Given the description of an element on the screen output the (x, y) to click on. 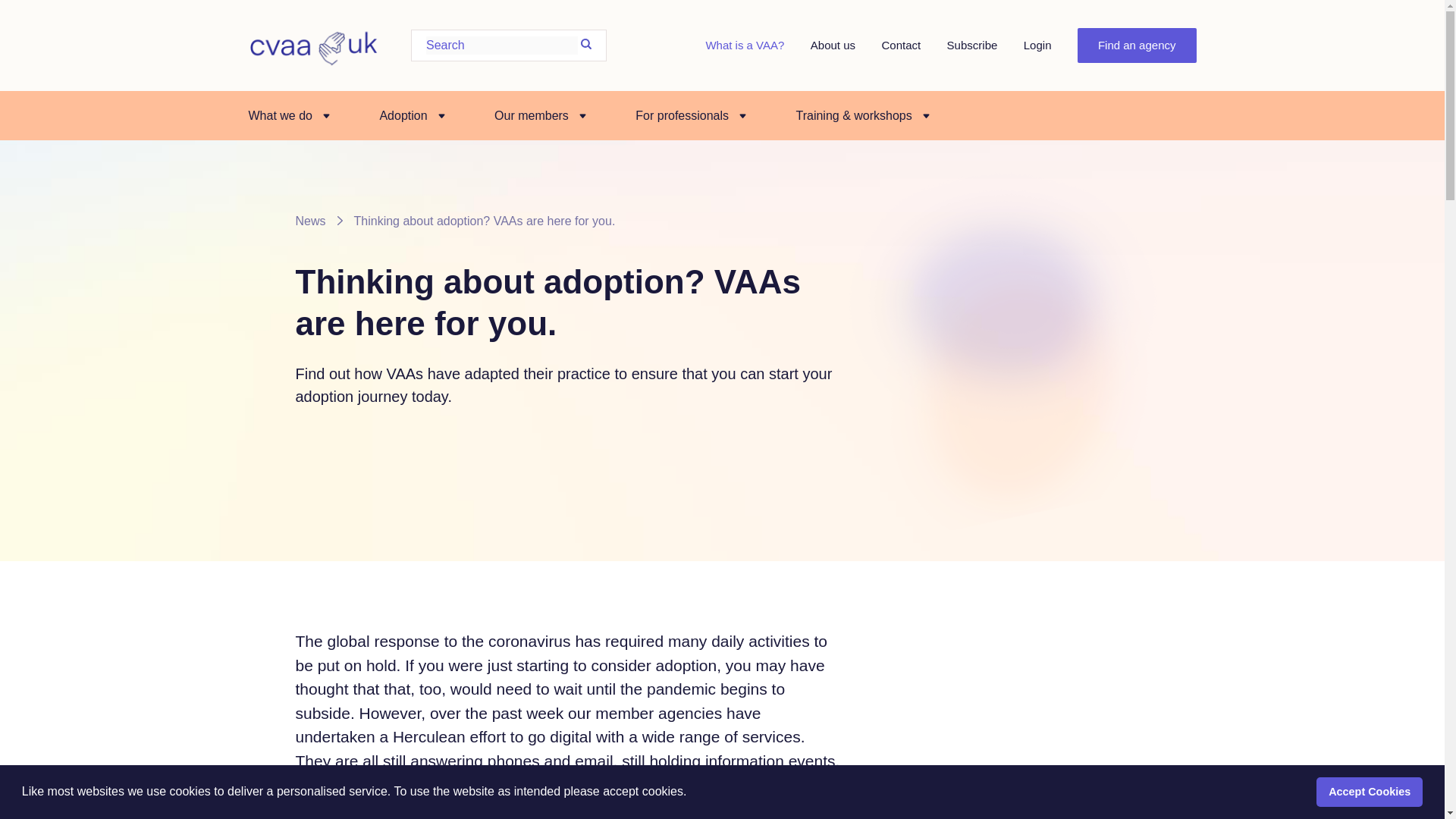
Login (1037, 44)
Contact (900, 44)
What is a VAA? (744, 44)
Accept Cookies (1369, 791)
About us (833, 44)
Find an agency (1136, 45)
Subscribe (972, 44)
